Given the description of an element on the screen output the (x, y) to click on. 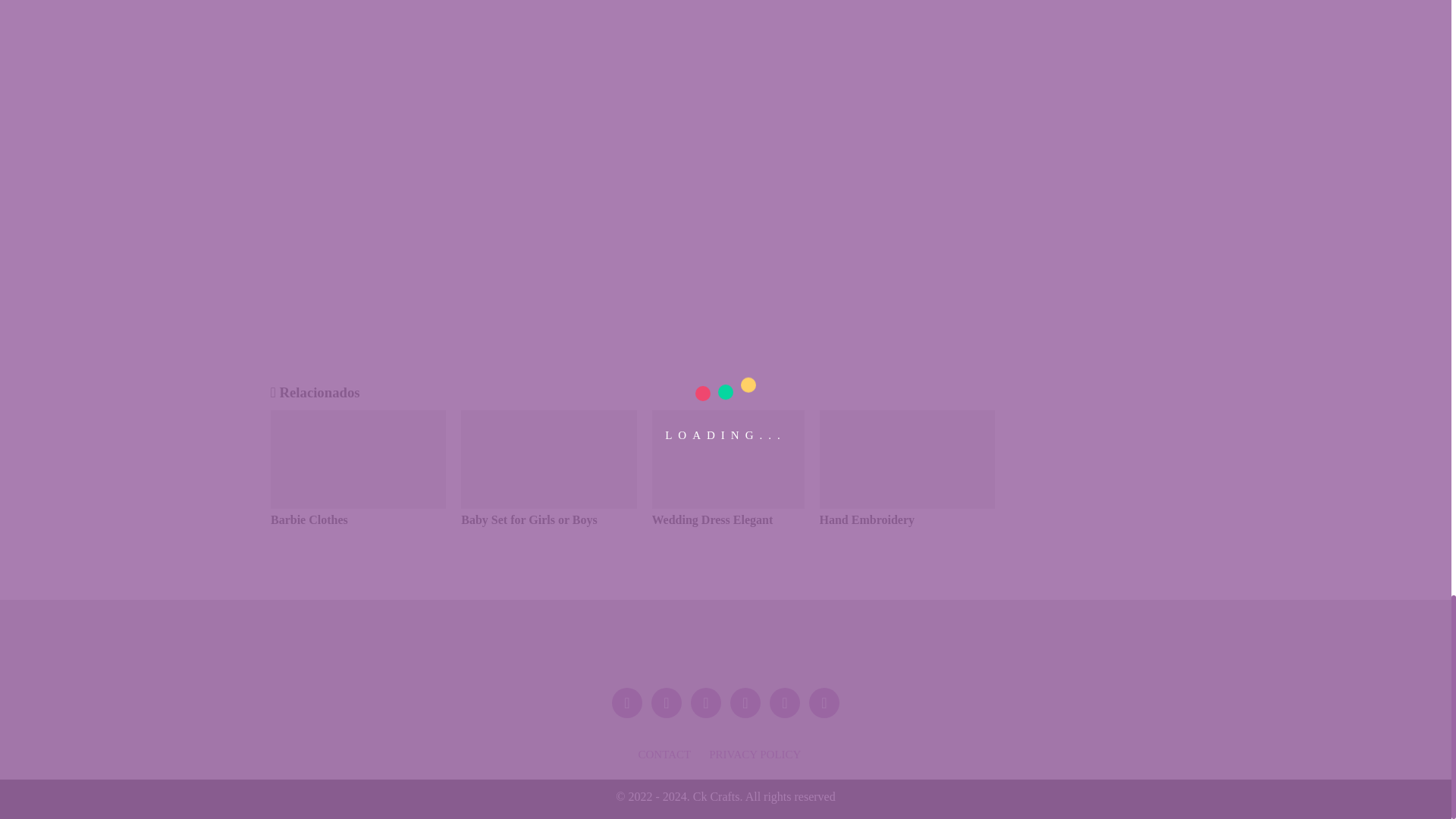
Hand Embroidery (906, 485)
Wedding Dress Elegant (728, 485)
Barbie Clothes (357, 485)
Baby Set for Girls or Boys (548, 485)
Baby Set for Girls or Boys (548, 485)
Barbie Clothes (357, 485)
Wedding Dress Elegant (728, 485)
Hand Embroidery (906, 485)
